Given the description of an element on the screen output the (x, y) to click on. 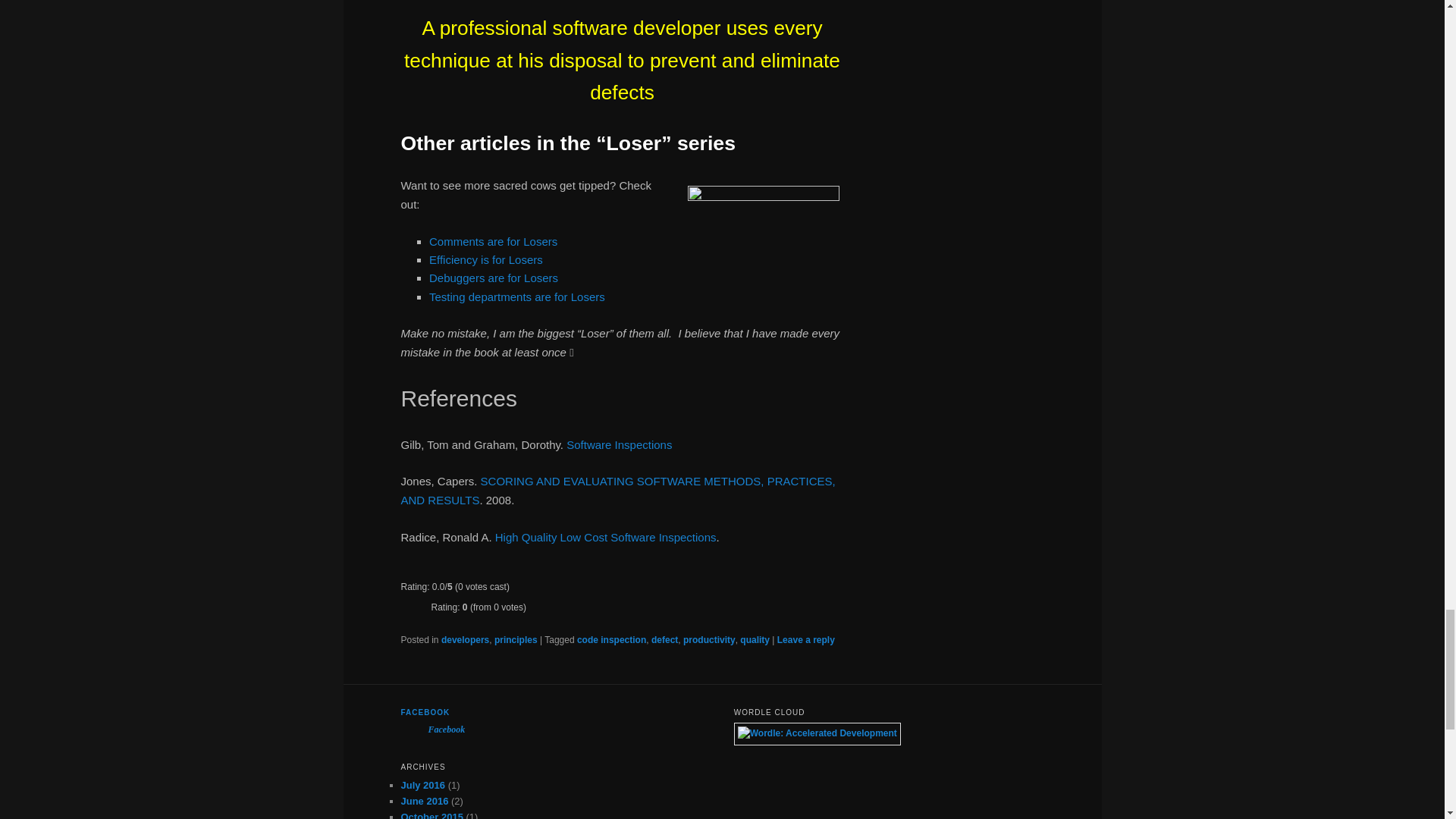
Comments are for Losers (493, 241)
Testing departments are for Losers (517, 296)
Software Inspections (618, 444)
Efficiency is for Losers (486, 259)
Wordle: Accelerated Development (817, 733)
Debuggers are for Losers (493, 277)
